Given the description of an element on the screen output the (x, y) to click on. 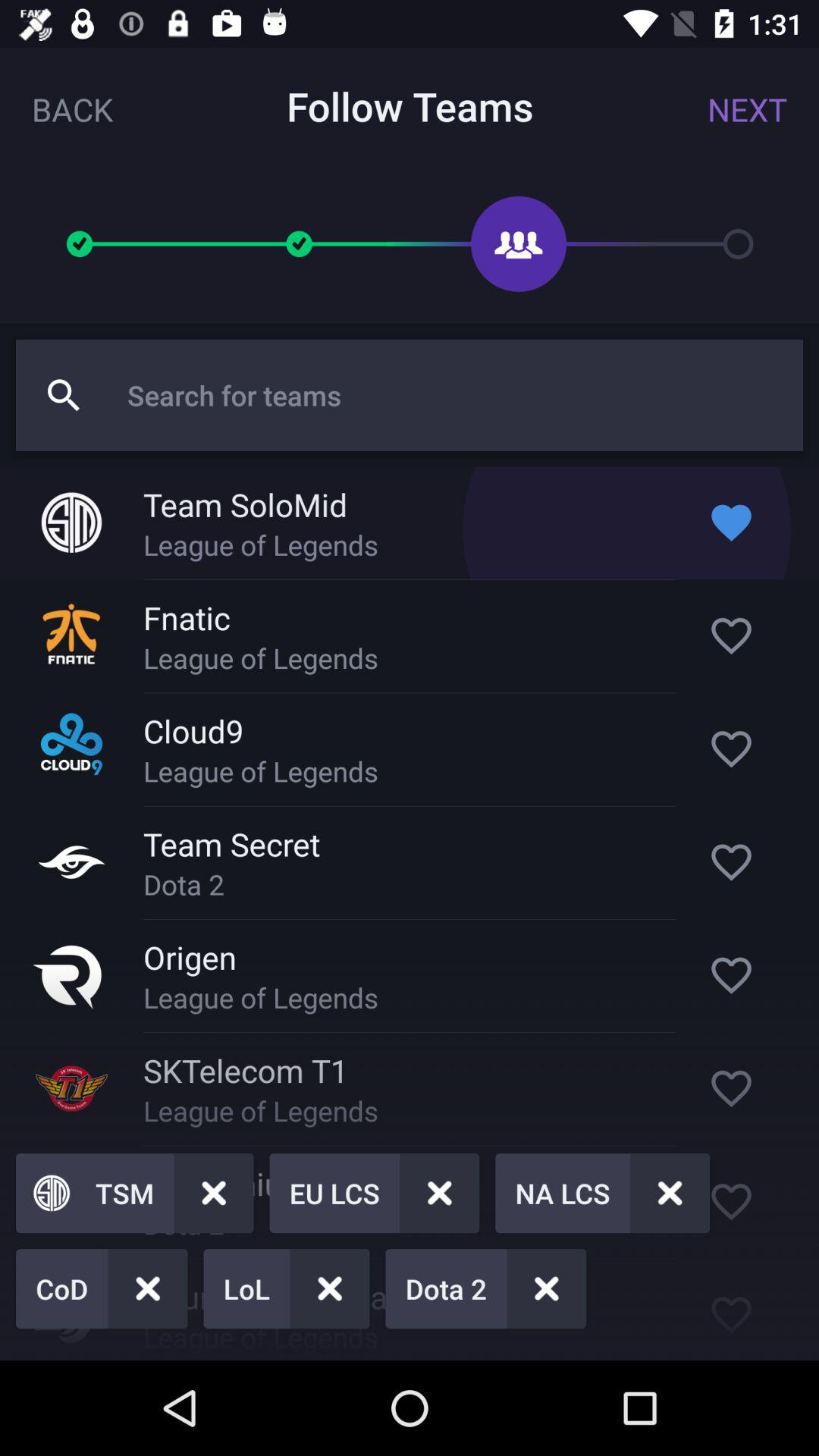
click the back (72, 108)
